Given the description of an element on the screen output the (x, y) to click on. 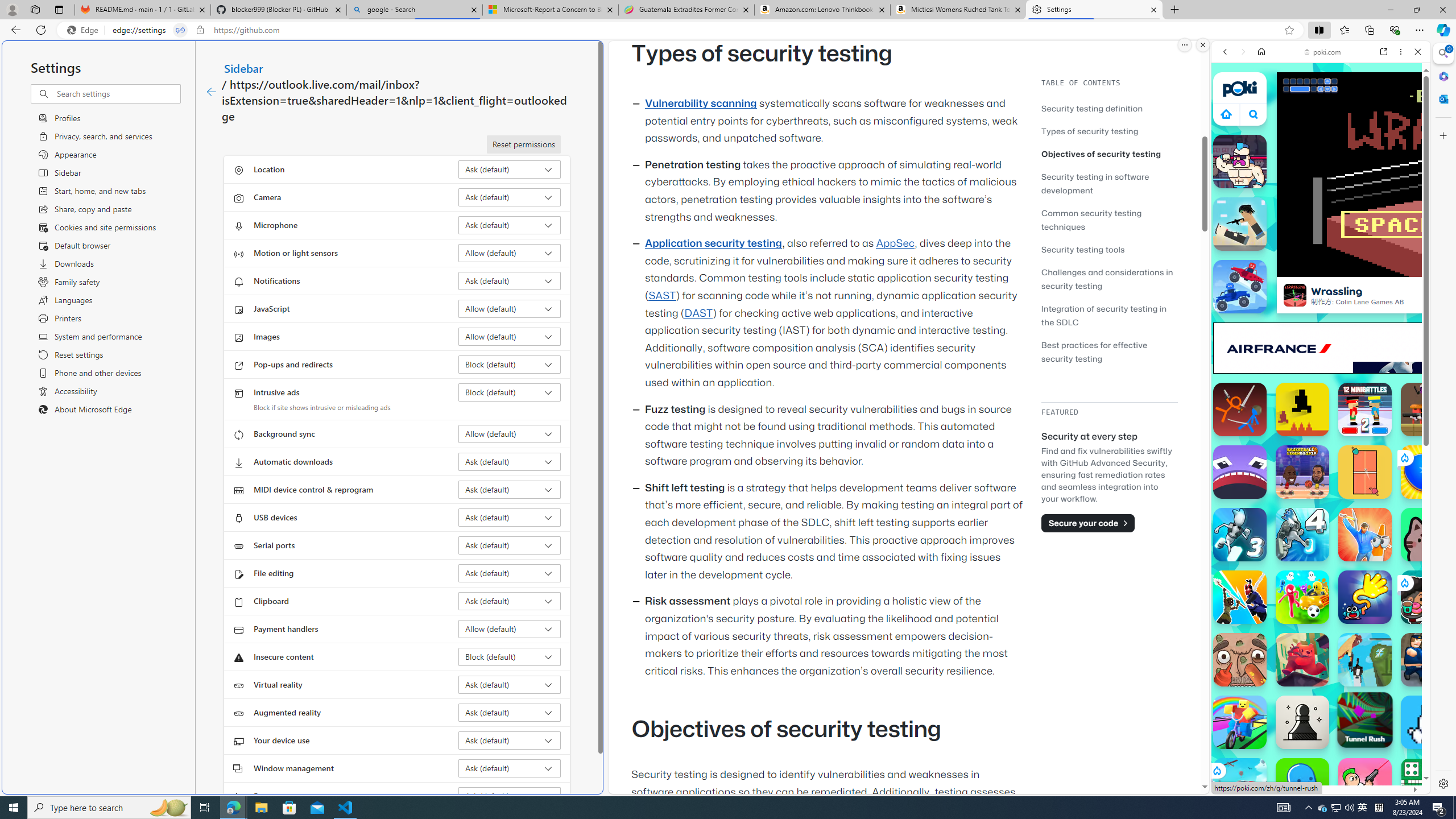
Classic Chess (1302, 722)
Car Games (1320, 267)
SUBWAY SURFERS - Play Online for Free! | Poki (1315, 765)
Temple of Boom Temple of Boom (1427, 409)
Sidebar (243, 67)
G-Switch 4 G-Switch 4 (1302, 534)
Poor Bunny Poor Bunny (1427, 722)
